Given the description of an element on the screen output the (x, y) to click on. 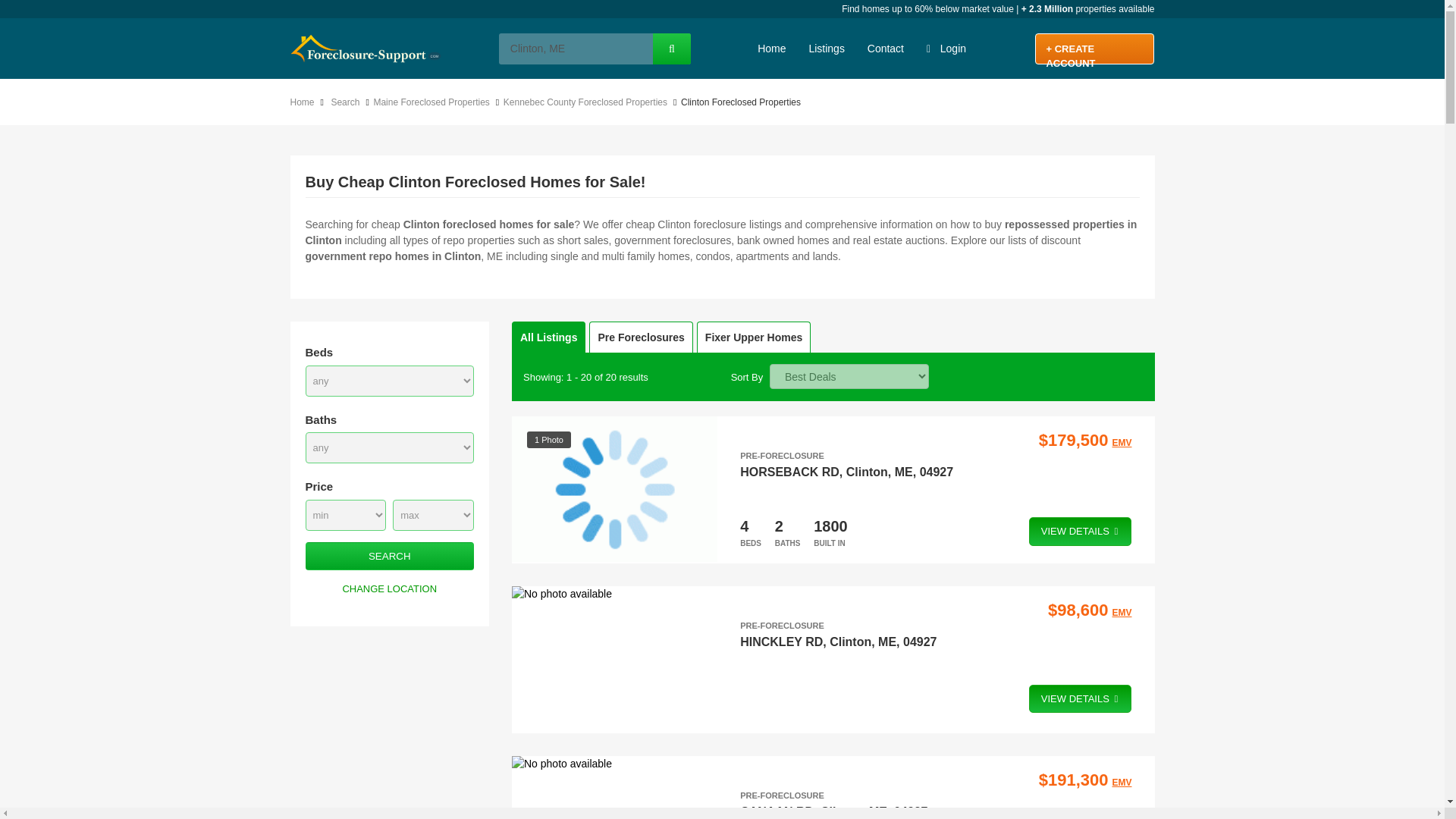
Home (304, 102)
VIEW DETAILS (1080, 531)
Listings (825, 48)
Pre Foreclosures (641, 336)
Fixer Upper Homes (753, 336)
CANAAN RD (776, 811)
Kennebec County Foreclosed Properties (587, 102)
Contact (885, 48)
Clinton, ME (574, 47)
All Listings (548, 336)
